Given the description of an element on the screen output the (x, y) to click on. 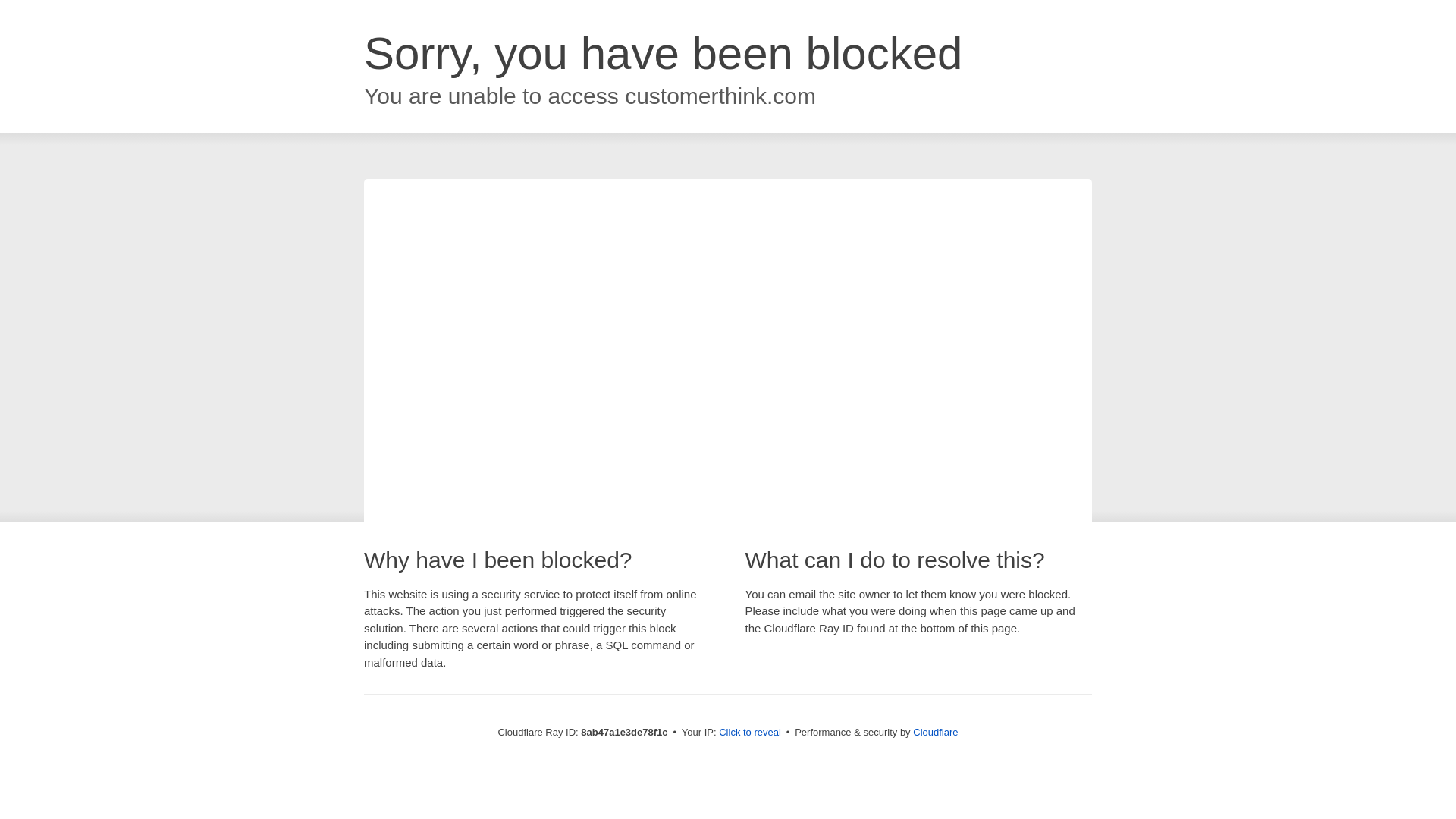
Click to reveal (749, 732)
Cloudflare (935, 731)
